Given the description of an element on the screen output the (x, y) to click on. 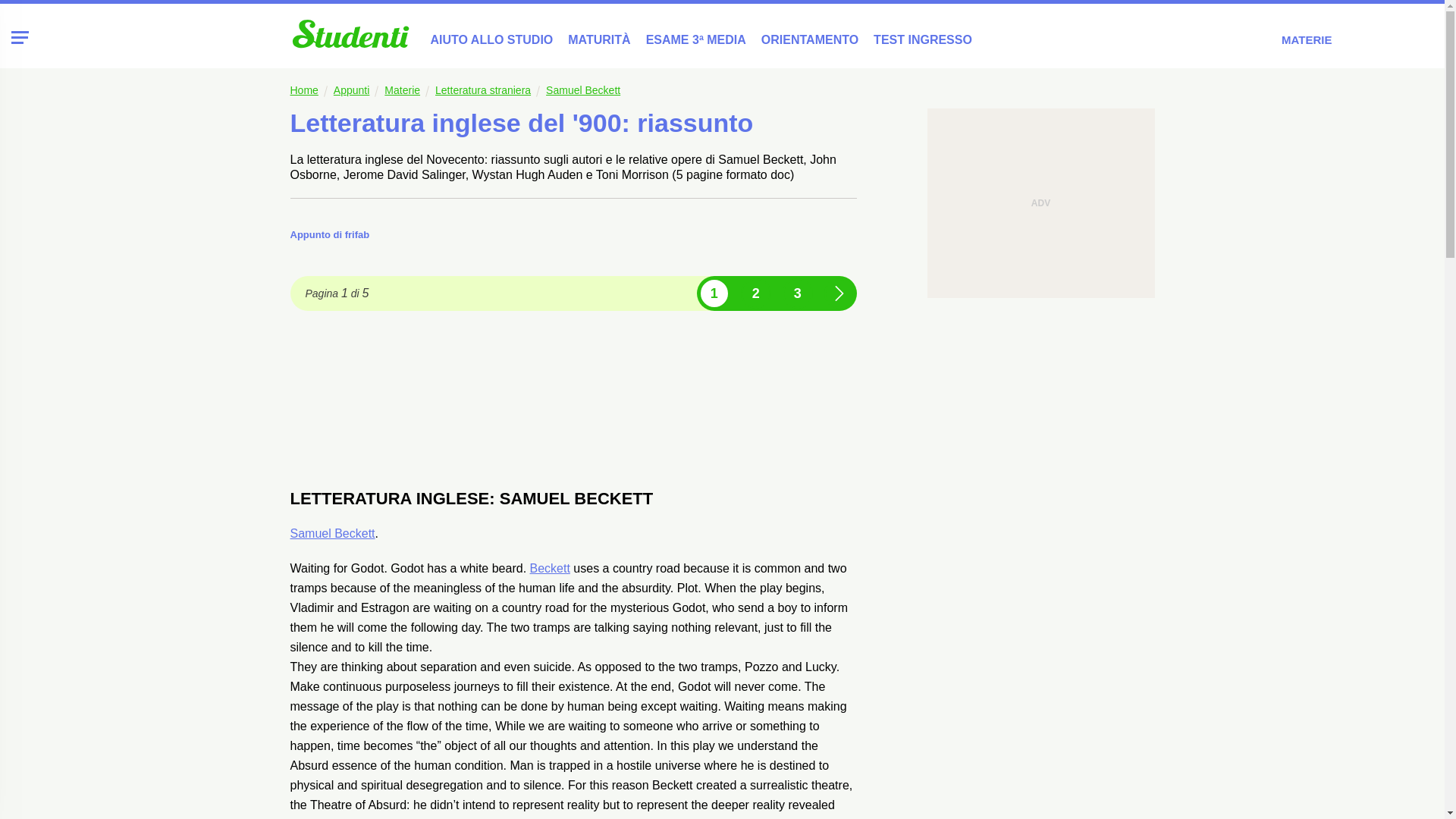
MATERIE (1323, 38)
CERCA (1389, 38)
Orientamento (922, 39)
ORIENTAMENTO (810, 39)
AIUTO ALLO STUDIO (491, 39)
Aiuto allo studio (491, 39)
Orientamento (810, 39)
TEST INGRESSO (922, 39)
